Given the description of an element on the screen output the (x, y) to click on. 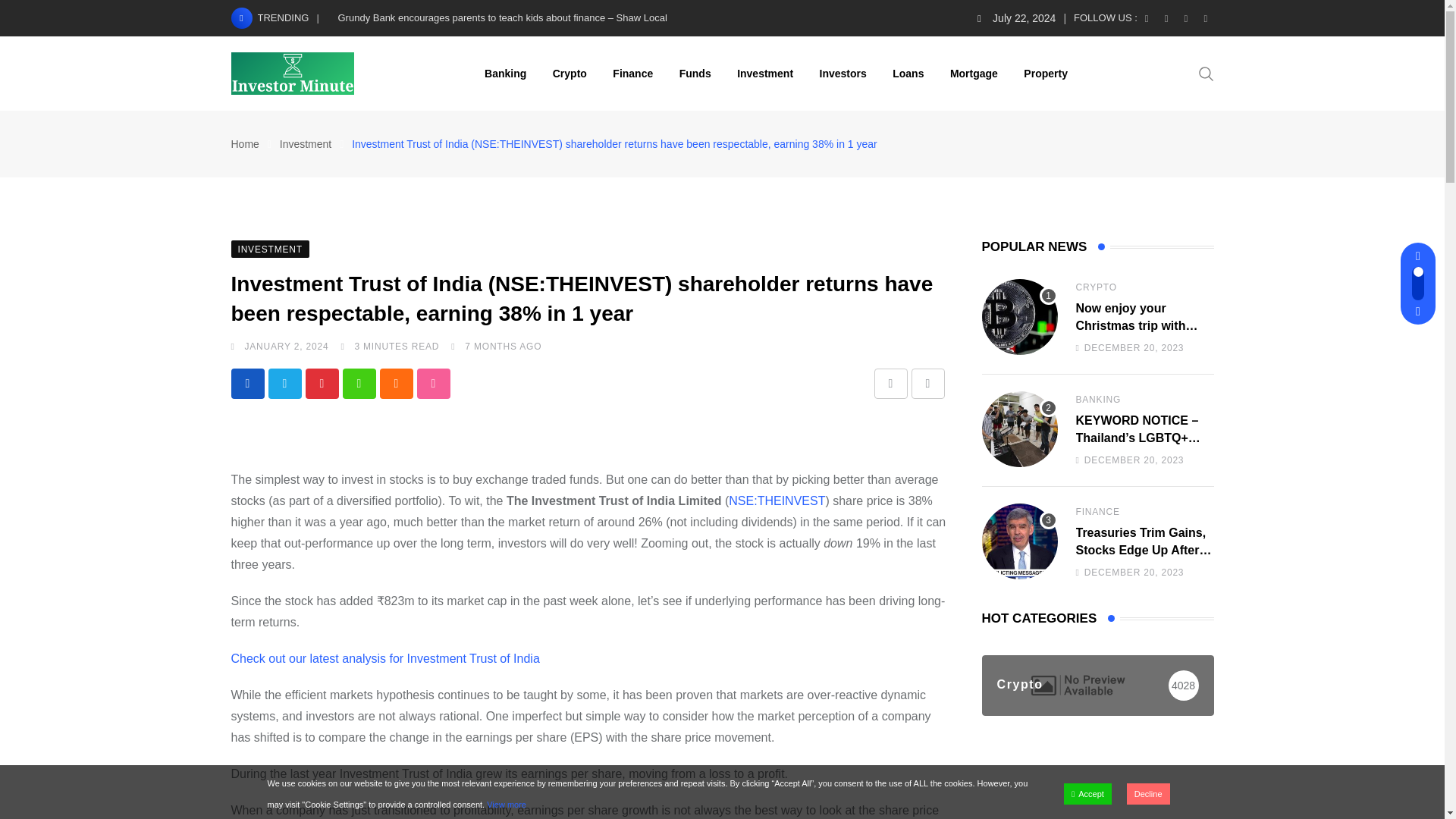
StumbleUpon (432, 383)
Whatsapp (358, 383)
Investment (765, 73)
Cloud (395, 383)
Home (244, 143)
Search (1205, 72)
Mortgage (974, 73)
Property (1044, 73)
Investment (305, 143)
Pinterest (320, 383)
INVESTMENT (269, 247)
Investors (842, 73)
